Given the description of an element on the screen output the (x, y) to click on. 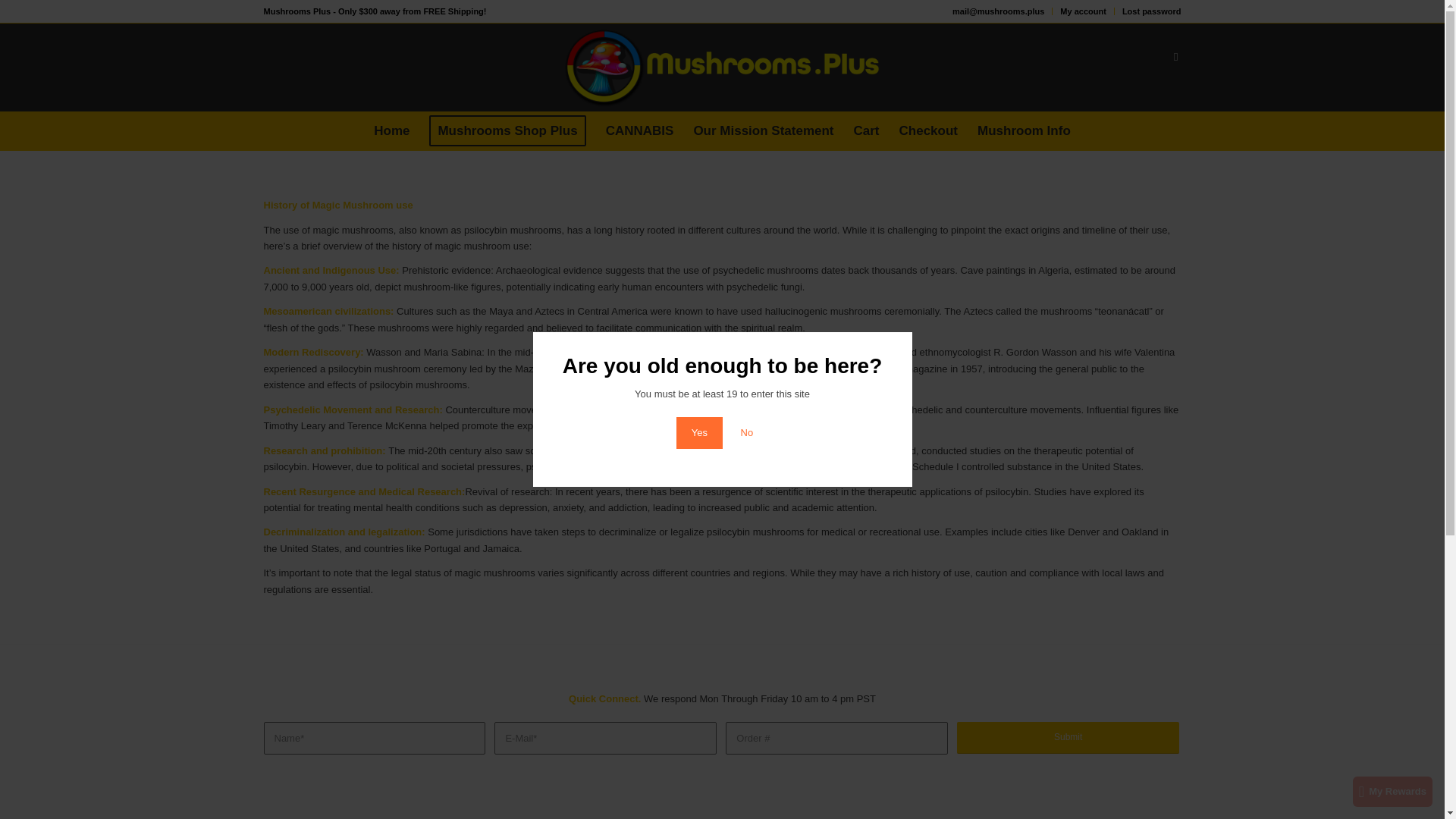
Our Mission Statement (762, 130)
Lost password (1151, 11)
No (746, 431)
Checkout (928, 130)
Mushrooms Plus (507, 130)
Home (391, 130)
Mushrooms Shop Plus (507, 130)
Mushroom Info (1024, 130)
Submit (1067, 737)
Cart (866, 130)
